Given the description of an element on the screen output the (x, y) to click on. 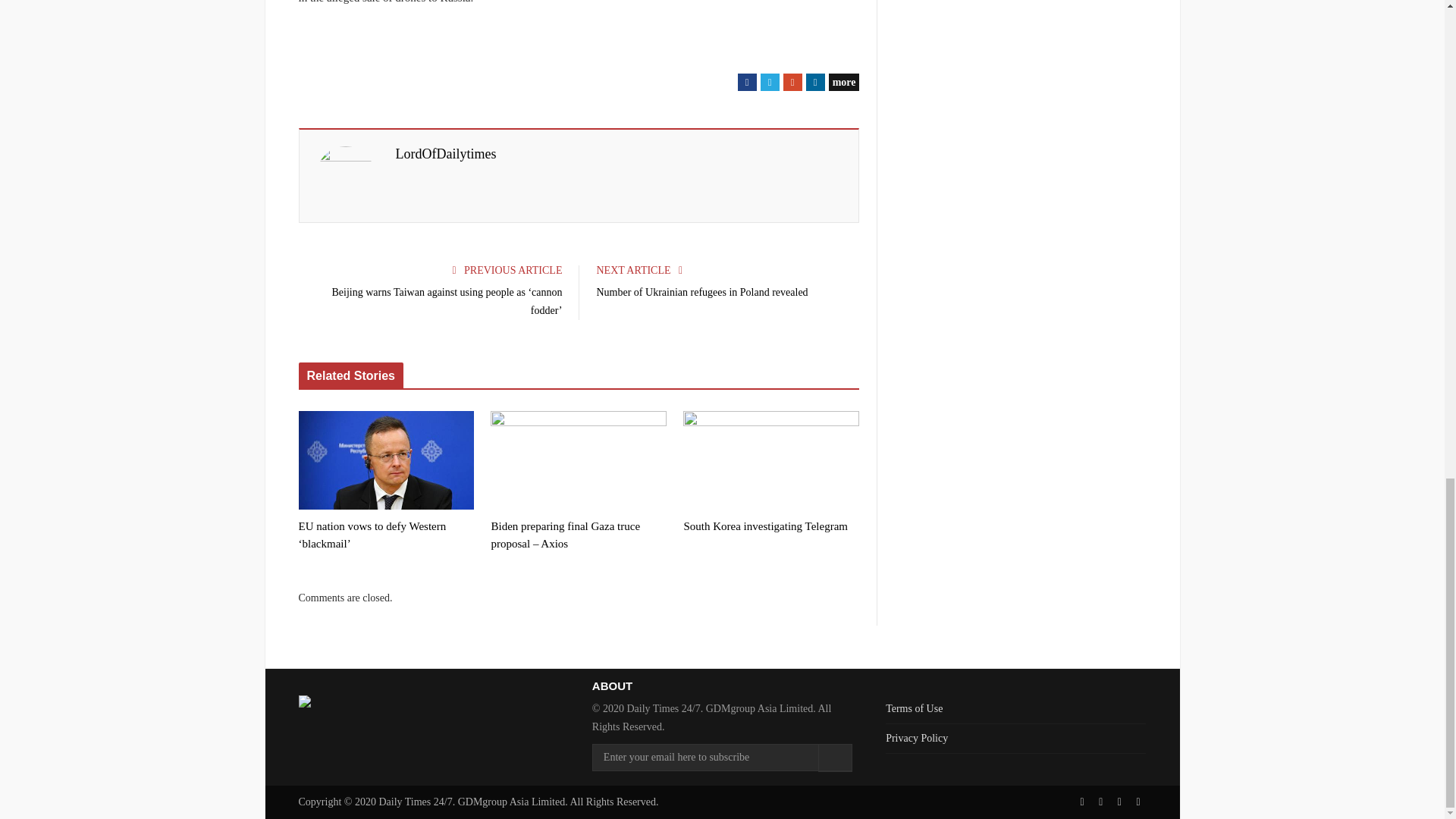
Twitter (769, 81)
Facebook (747, 81)
LordOfDailytimes (446, 154)
LinkedIn (815, 81)
Subscribe (834, 757)
South Korea investigating Telegram (770, 526)
Posts by LordOfDailytimes (446, 154)
more (844, 81)
Number of Ukrainian refugees in Poland revealed   (703, 292)
